Given the description of an element on the screen output the (x, y) to click on. 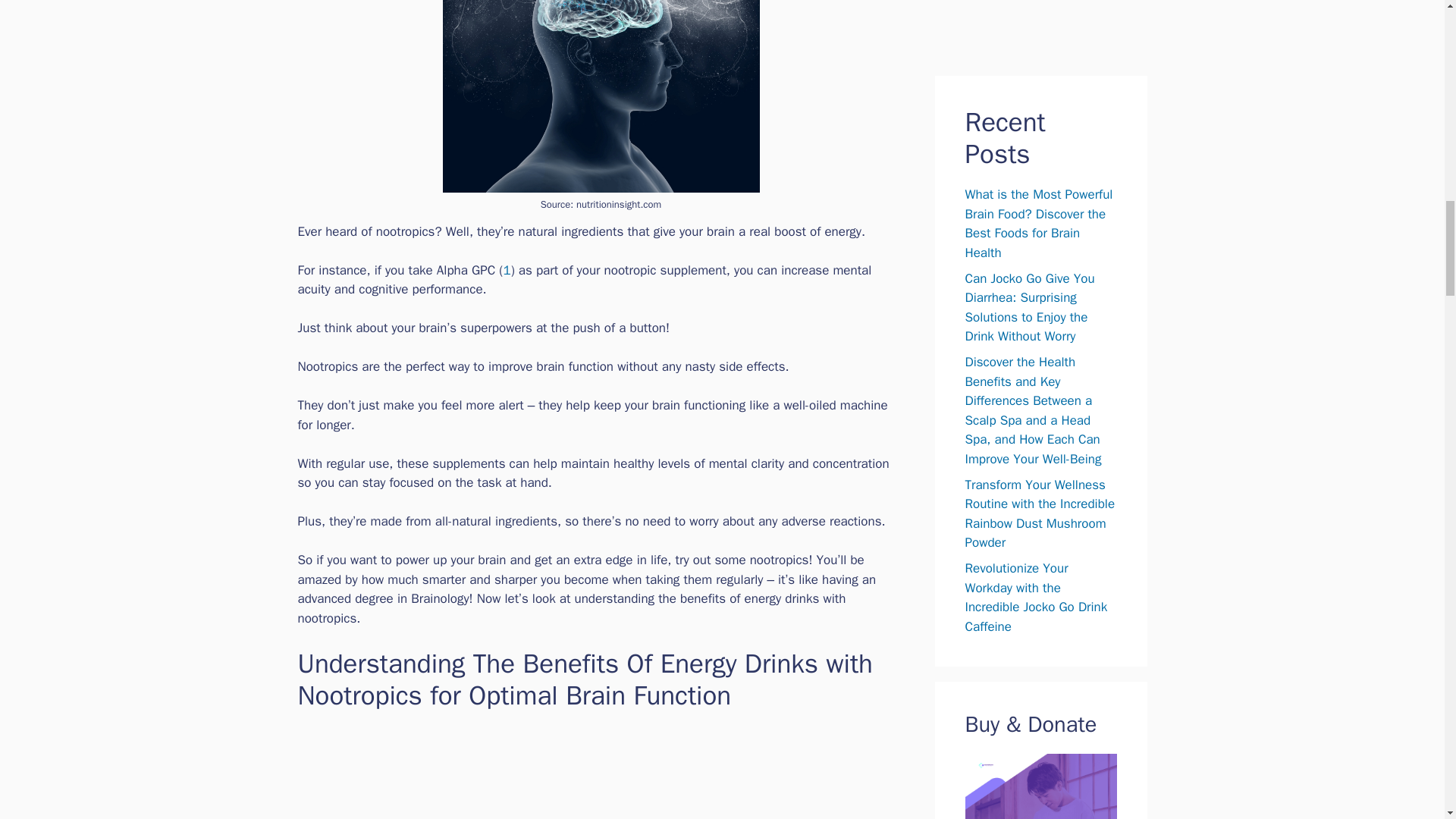
HOW TO BOOST BRAIN POWER - NOOTROPICS SUPPLEMENTS (600, 772)
1 (506, 270)
